Given the description of an element on the screen output the (x, y) to click on. 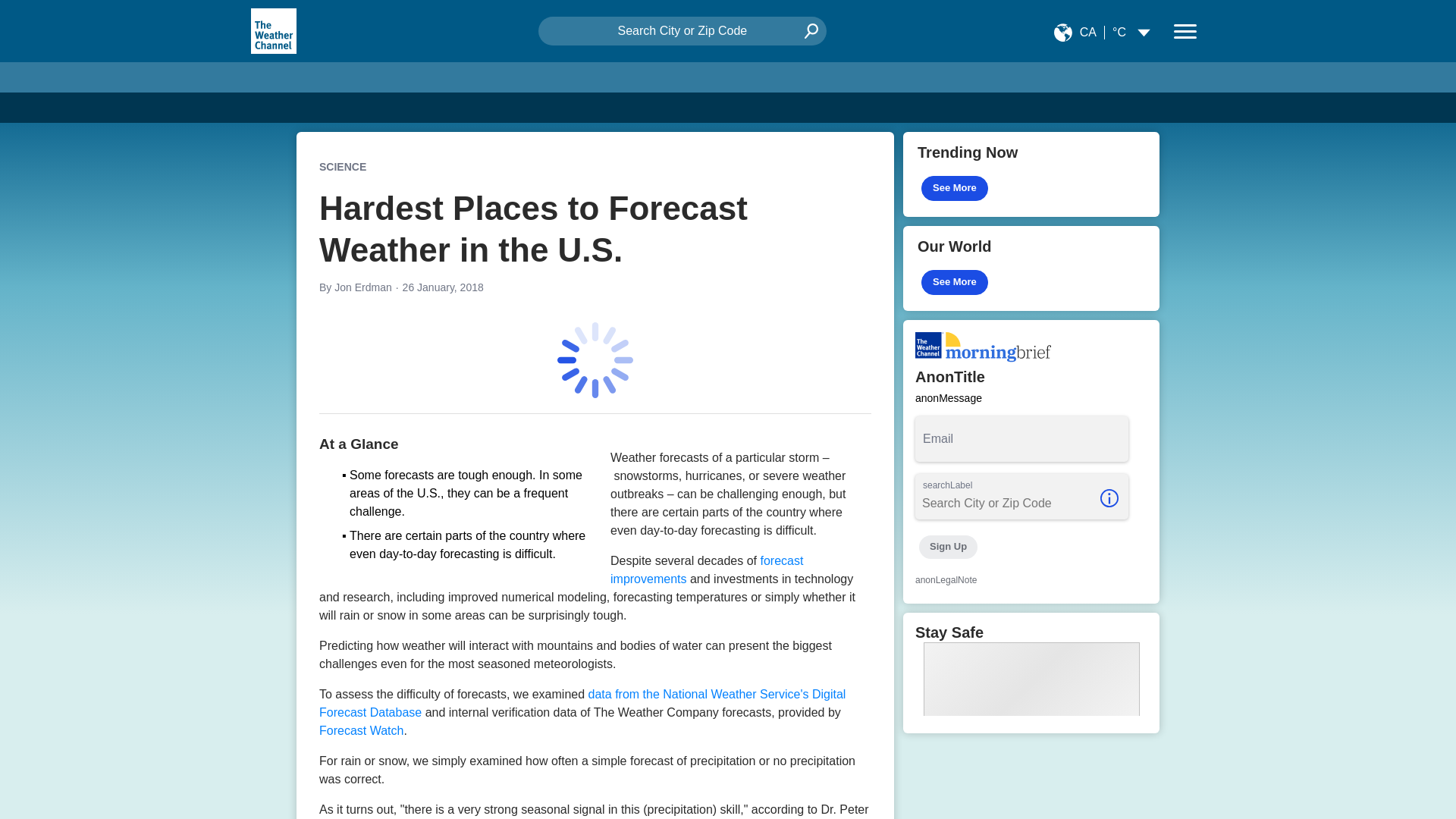
Stay Safe (1030, 672)
forecast improvements (706, 569)
The Weather Channel (273, 31)
Forecast Watch (360, 730)
See More (954, 282)
Trending Now (1030, 174)
The Weather Channel (273, 30)
See More (954, 188)
Our World (1030, 268)
